Given the description of an element on the screen output the (x, y) to click on. 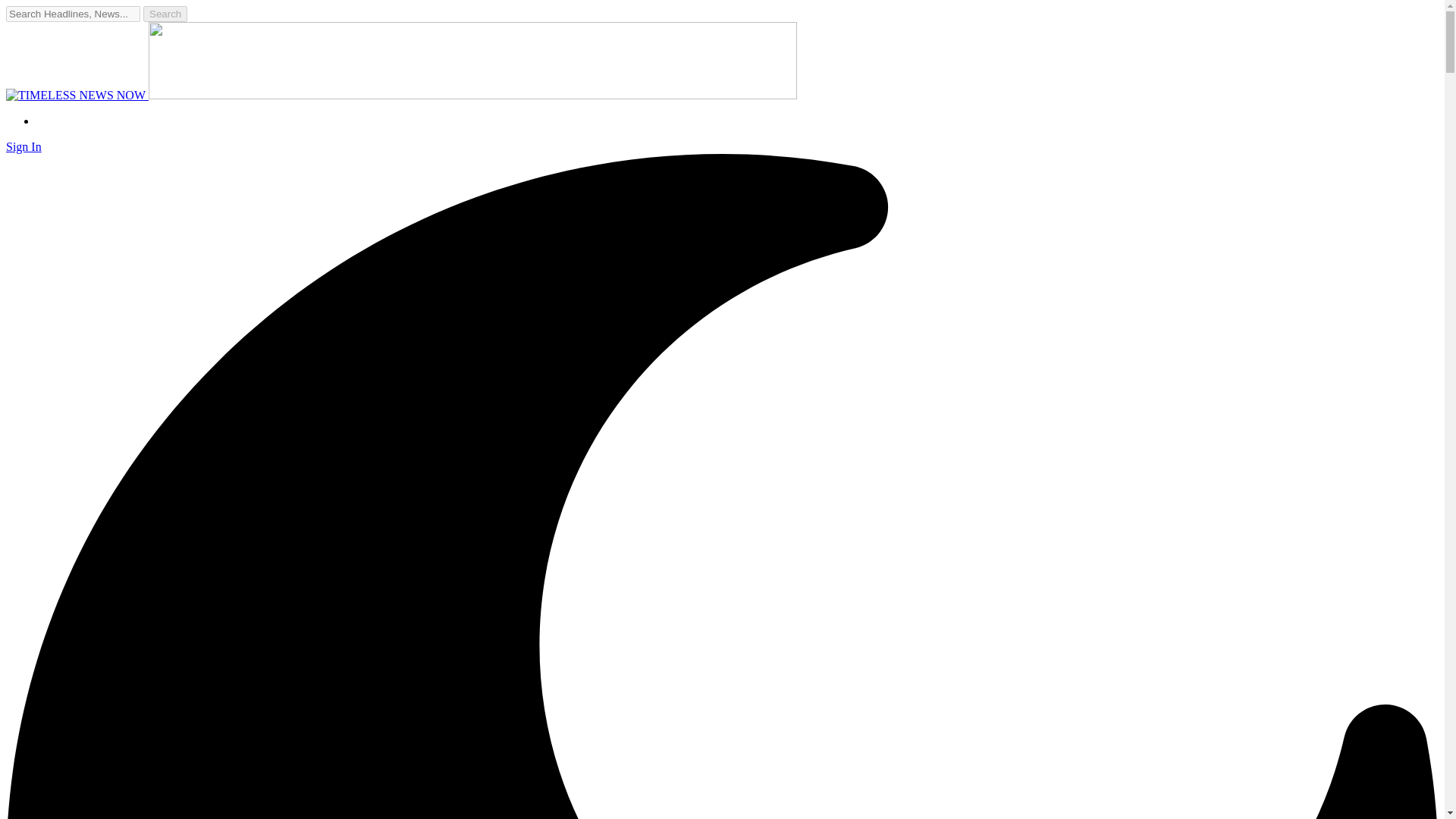
Search (164, 13)
Search (164, 13)
Sign In (23, 146)
